Given the description of an element on the screen output the (x, y) to click on. 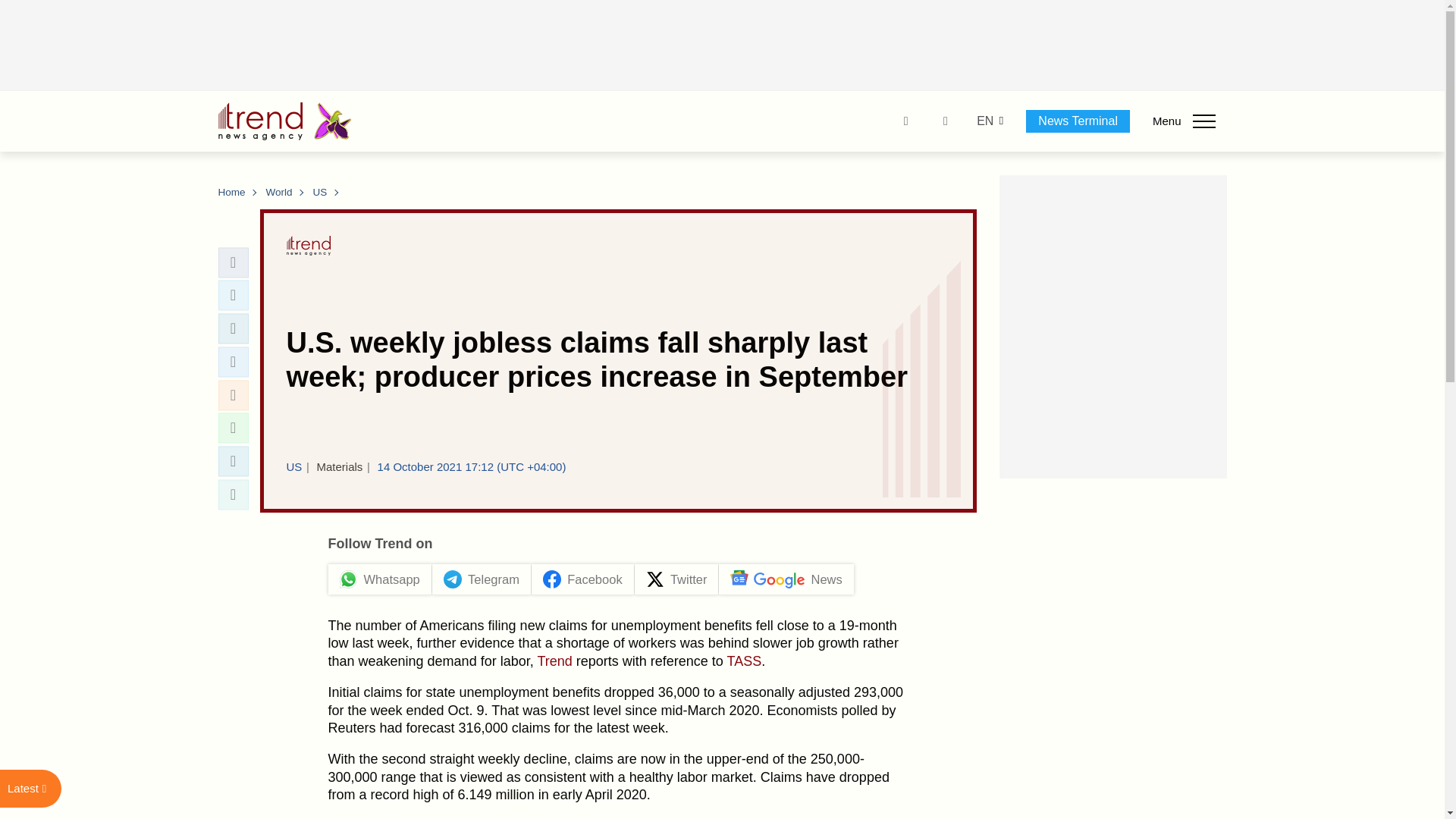
English (984, 121)
News Terminal (1077, 120)
EN (984, 121)
